Given the description of an element on the screen output the (x, y) to click on. 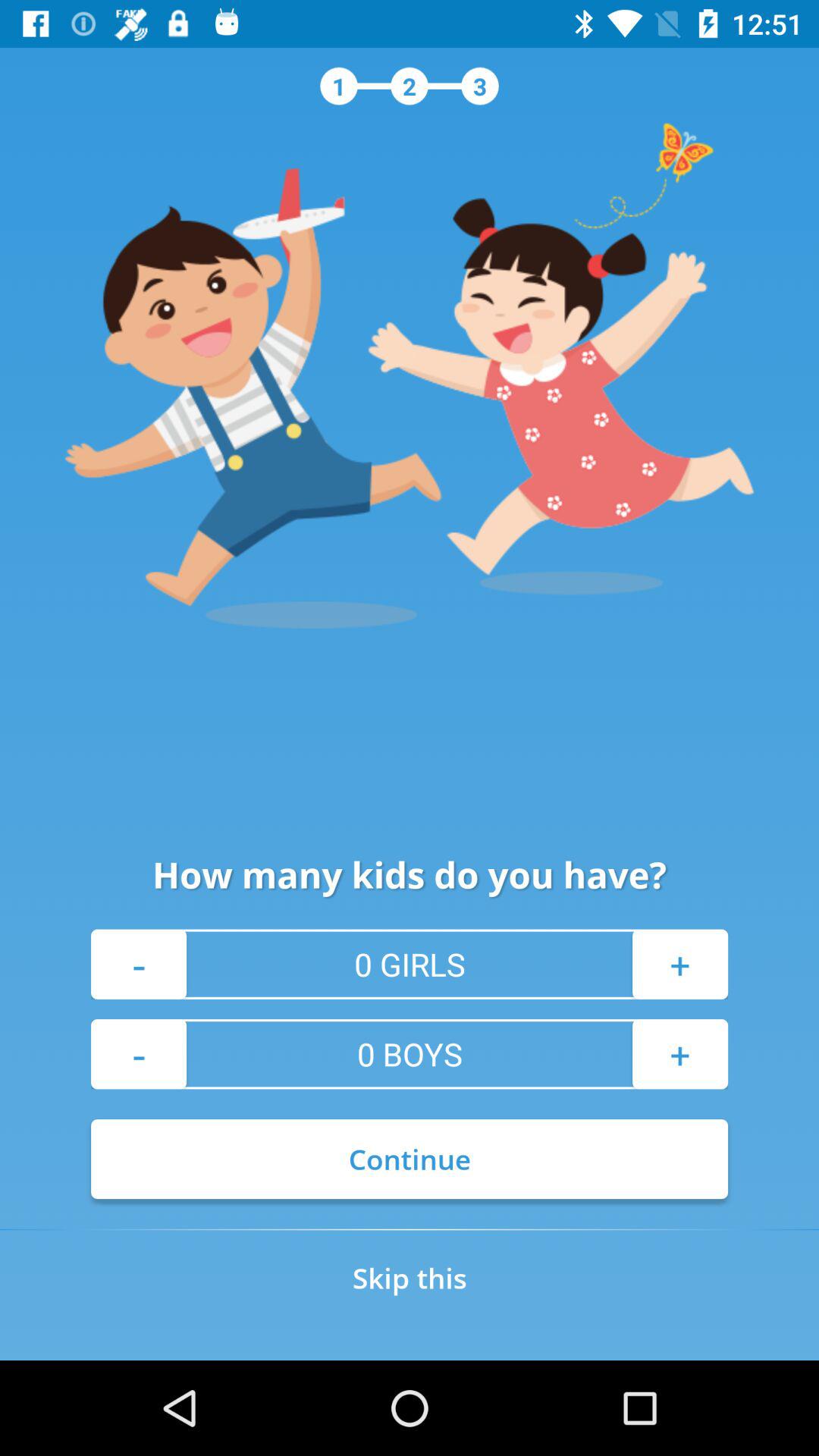
select the + item (680, 964)
